Given the description of an element on the screen output the (x, y) to click on. 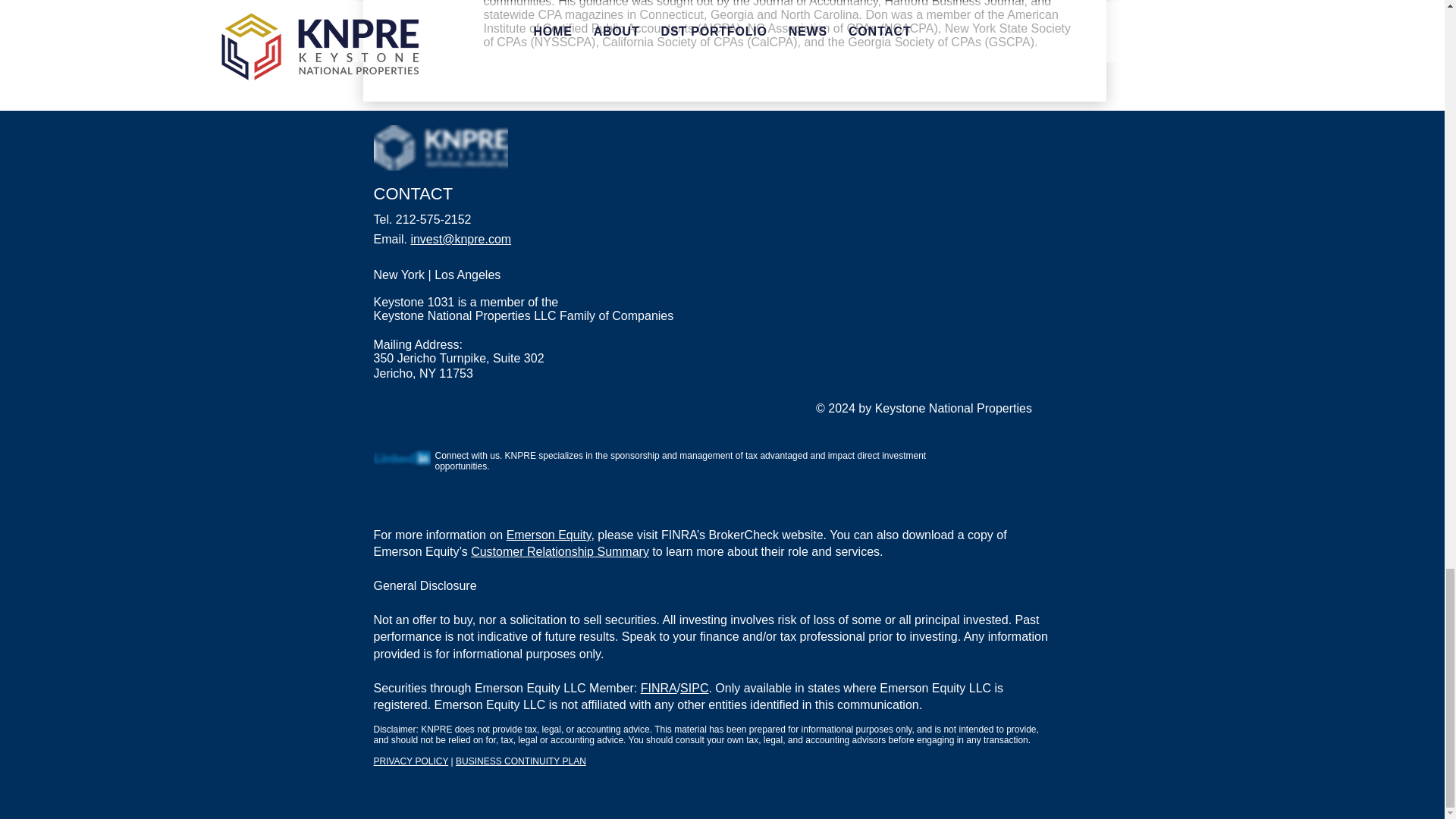
Customer Relationship Summary (559, 551)
PRIVACY POLICY (410, 760)
BUSINESS CONTINUITY PLAN (520, 760)
FINRA (658, 687)
Emerson Equity (548, 534)
SIPC (693, 687)
